Given the description of an element on the screen output the (x, y) to click on. 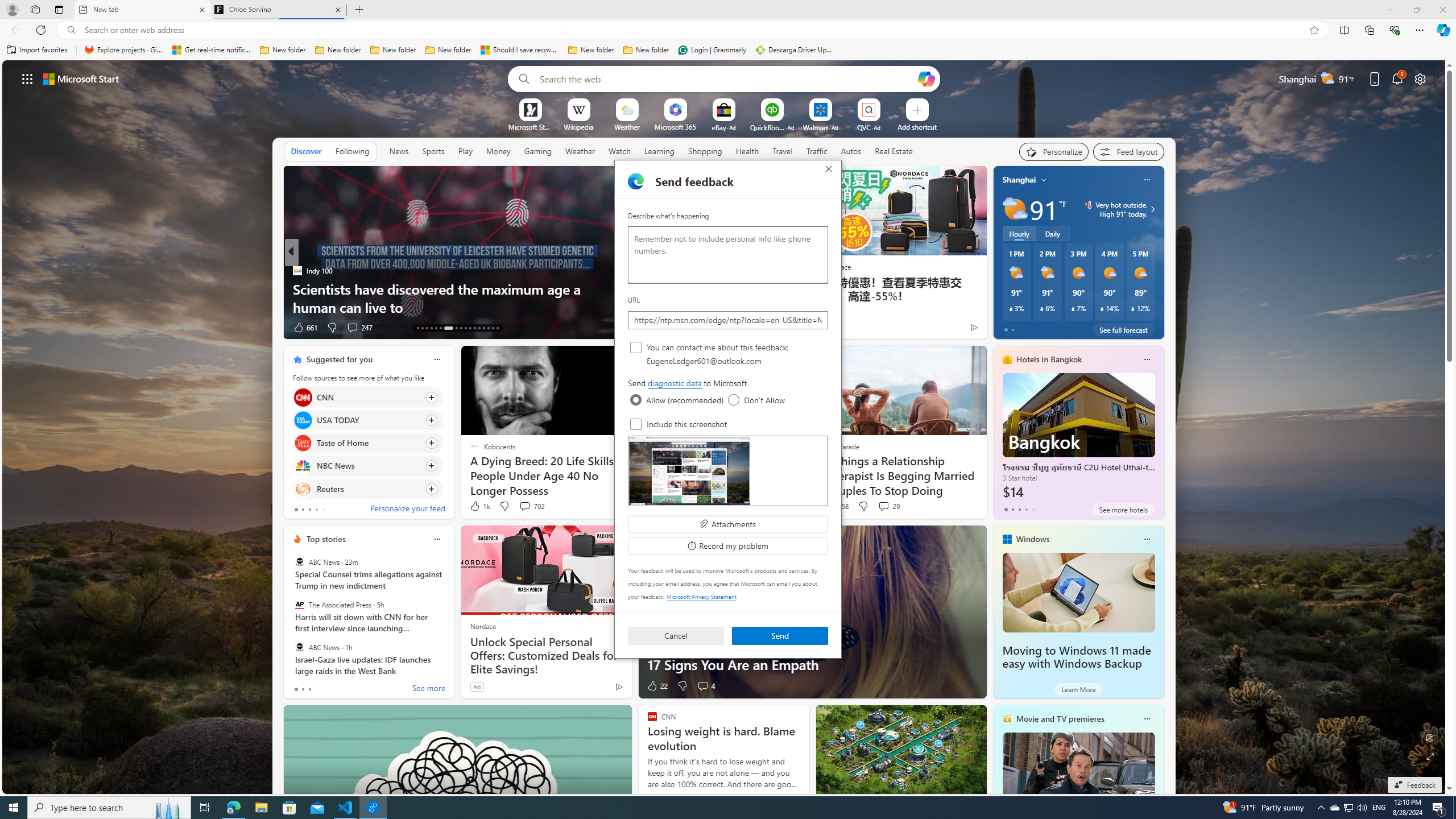
My location (1043, 179)
Learning (658, 151)
Gaming (537, 151)
View comments 29 Comment (888, 505)
USA TODAY (302, 419)
Edge Feedback - 1 running window (373, 807)
AutomationID: tab-14 (422, 328)
